Given the description of an element on the screen output the (x, y) to click on. 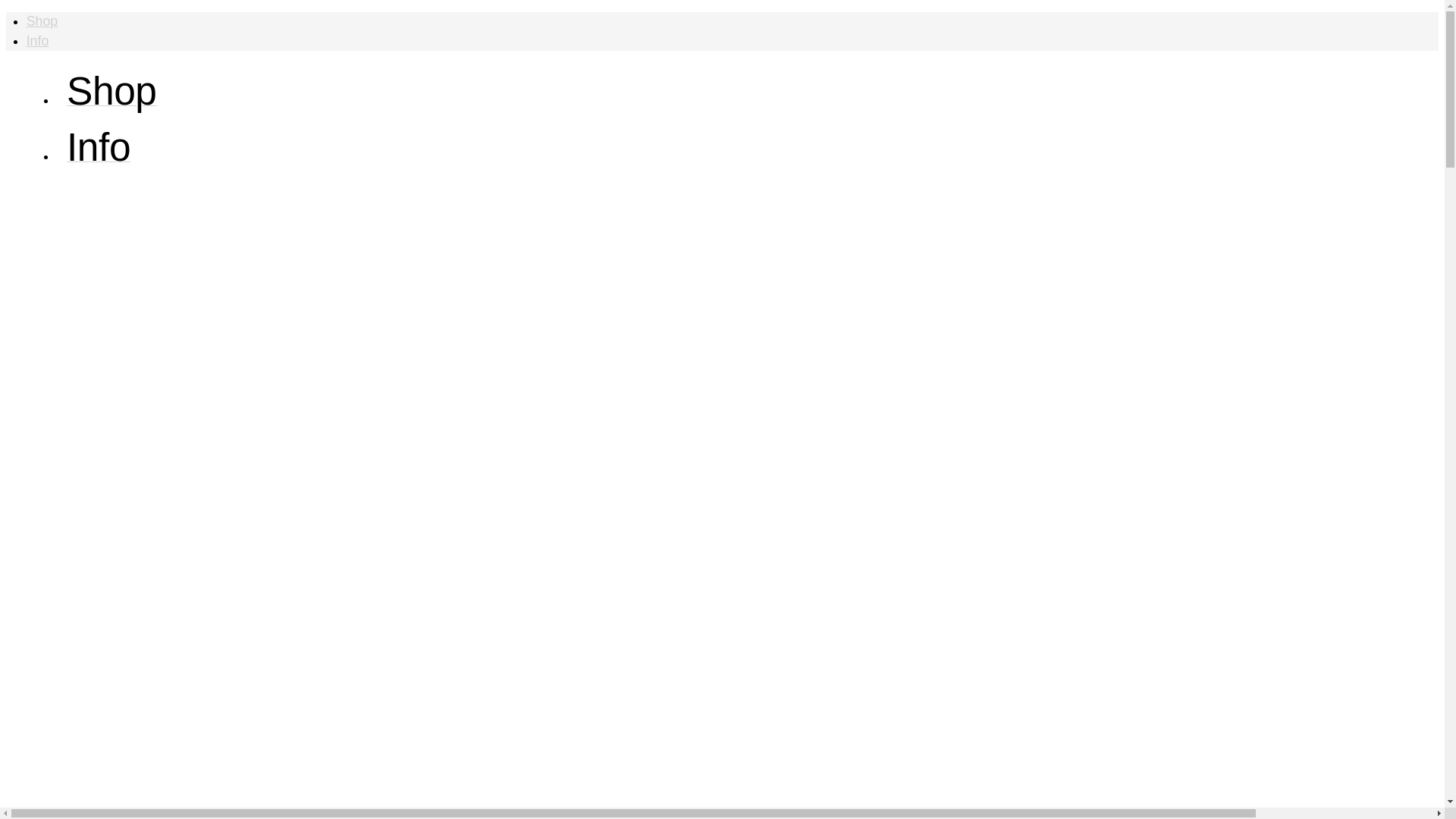
Info Element type: text (37, 40)
Shop Element type: text (111, 99)
Info Element type: text (98, 155)
Armanda Asani Element type: hover (161, 43)
Shop Element type: text (42, 20)
